Given the description of an element on the screen output the (x, y) to click on. 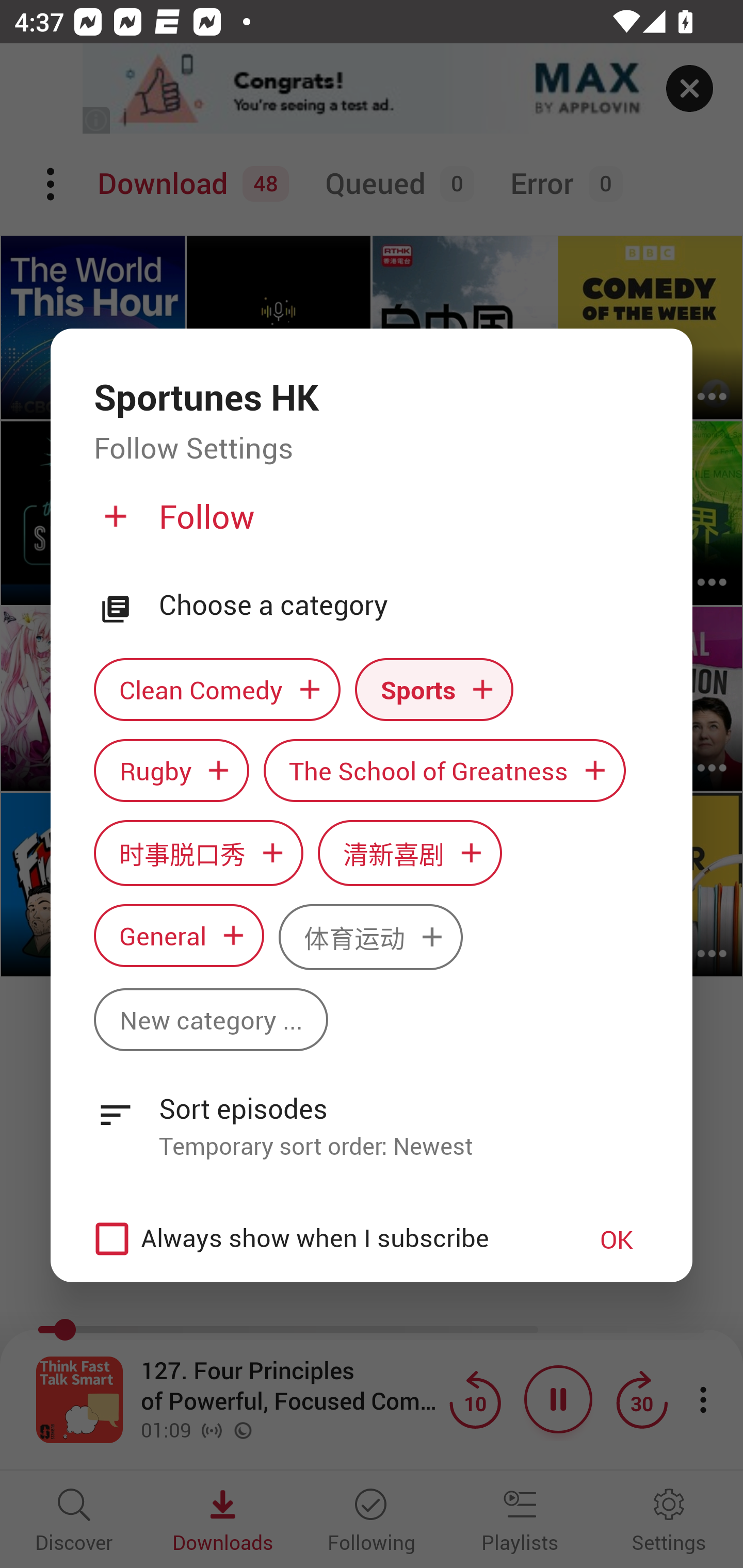
Follow (369, 525)
Choose a category (404, 604)
Clean Comedy (216, 689)
Sports (434, 689)
Rugby (170, 770)
The School of Greatness (444, 770)
时事脱口秀 (198, 852)
清新喜剧 (410, 852)
General (178, 935)
体育运动 (370, 937)
New category ... (210, 1018)
Sort episodes Temporary sort order: Newest (371, 1116)
OK (616, 1238)
Always show when I subscribe (320, 1239)
